Given the description of an element on the screen output the (x, y) to click on. 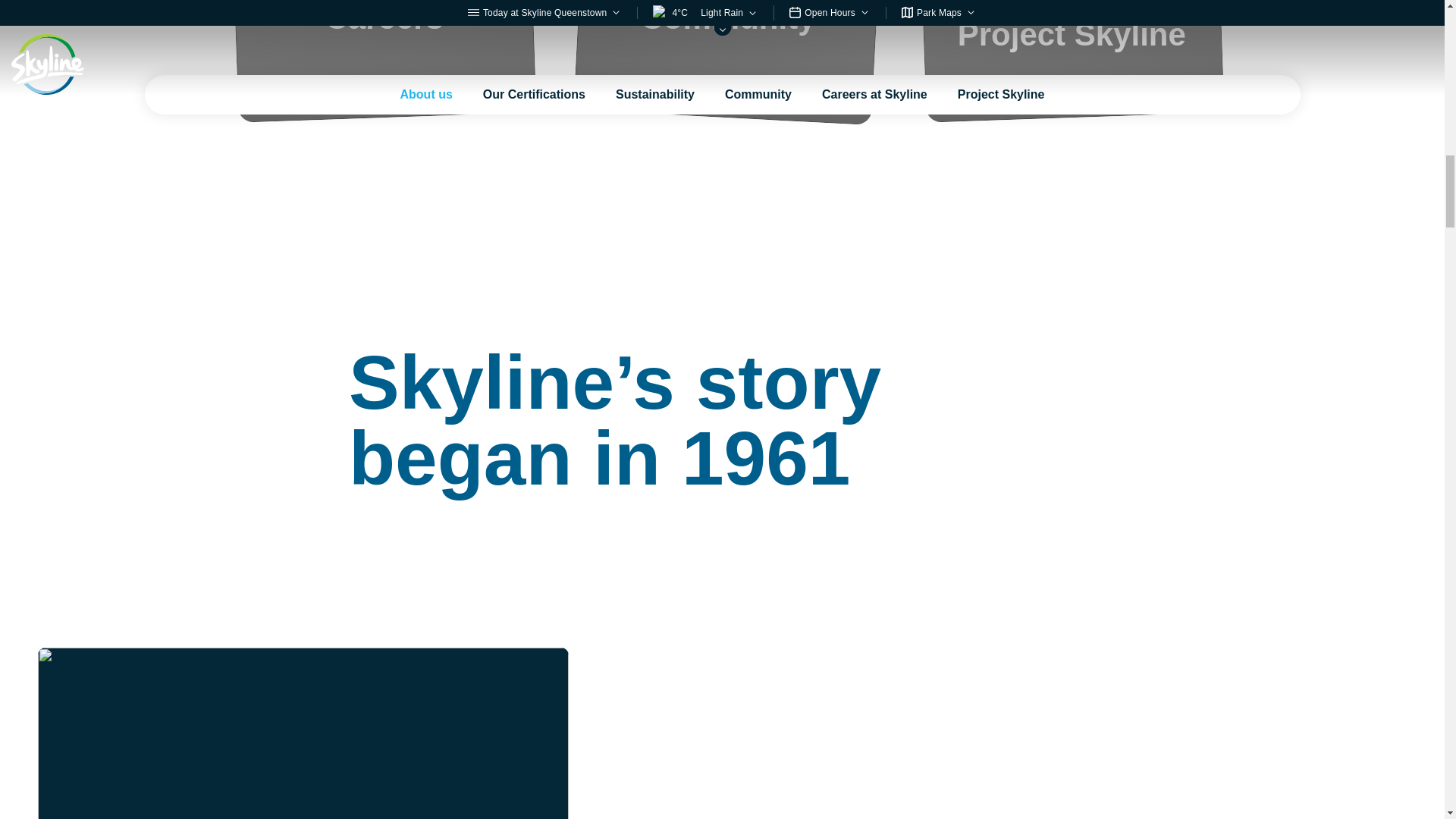
Community (727, 58)
Careers (383, 58)
Project Skyline (1072, 58)
